Given the description of an element on the screen output the (x, y) to click on. 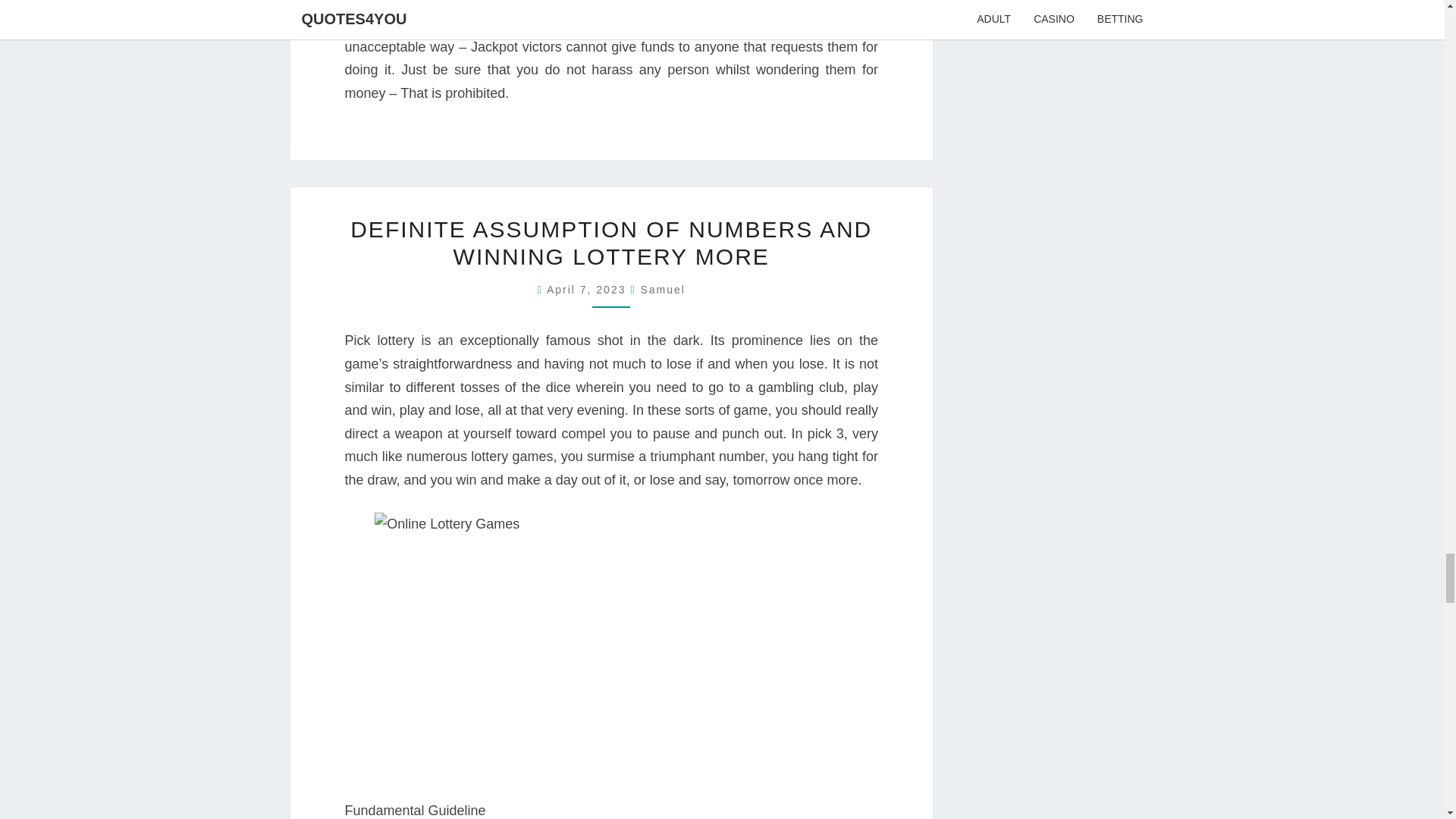
Samuel (662, 289)
8:48 am (588, 289)
DEFINITE ASSUMPTION OF NUMBERS AND WINNING LOTTERY MORE (611, 243)
April 7, 2023 (588, 289)
